Given the description of an element on the screen output the (x, y) to click on. 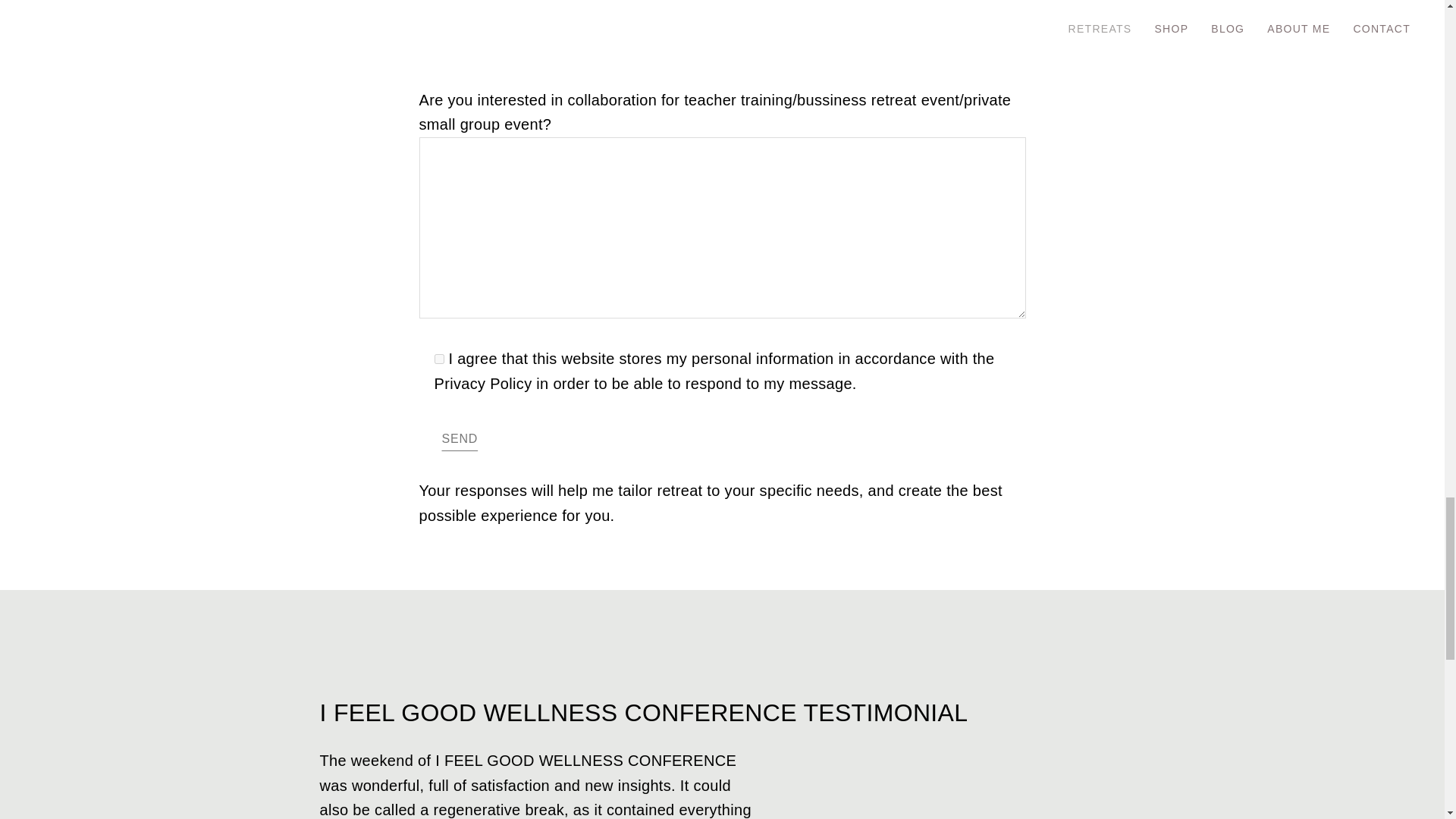
1 (438, 358)
Send (459, 438)
Send (459, 438)
